Given the description of an element on the screen output the (x, y) to click on. 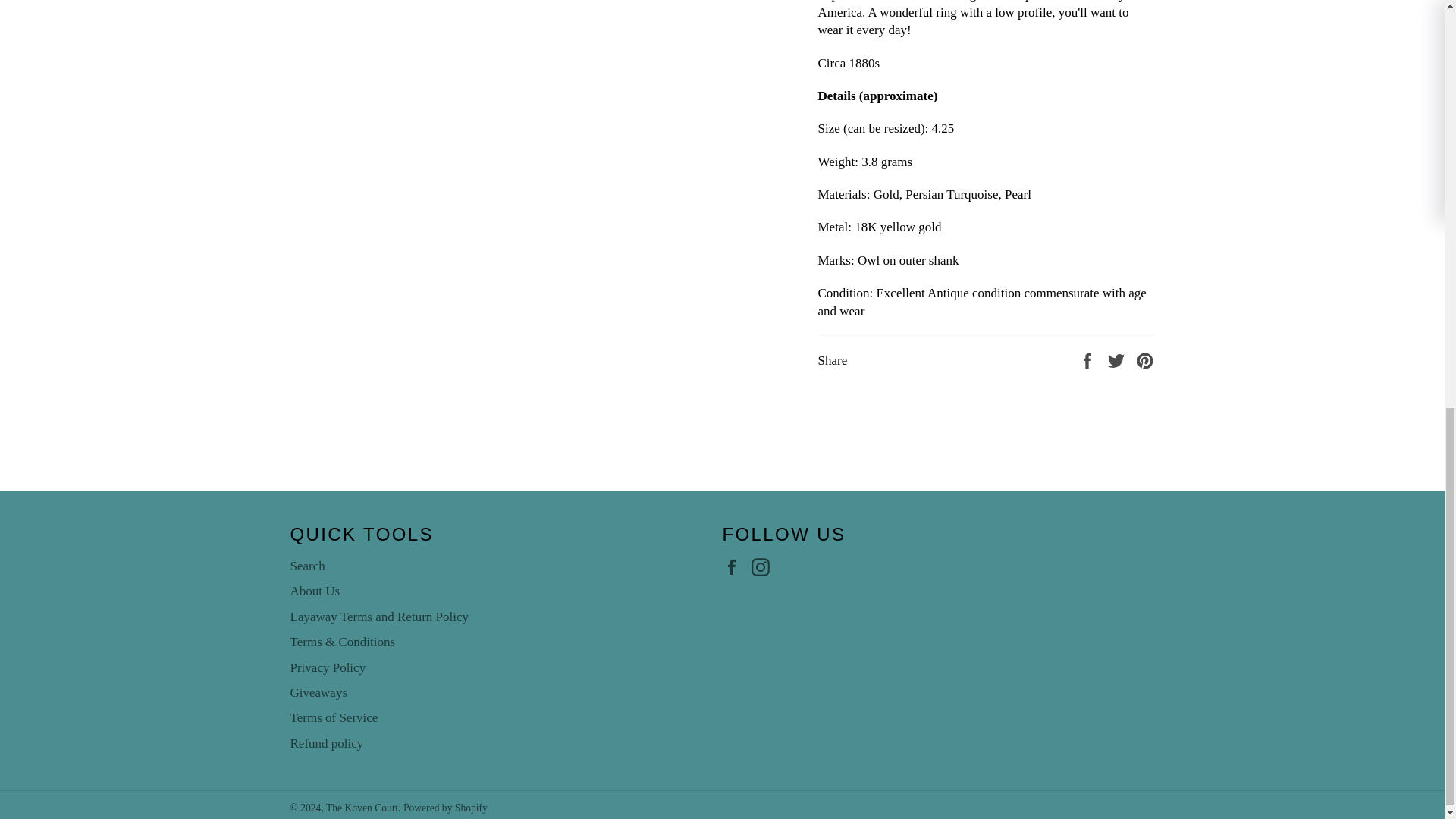
The Koven Court on Instagram (764, 566)
The Koven Court on Facebook (735, 566)
Share on Facebook (1088, 359)
Share on Facebook (1088, 359)
Tweet on Twitter (1117, 359)
Pin on Pinterest (1144, 359)
